Given the description of an element on the screen output the (x, y) to click on. 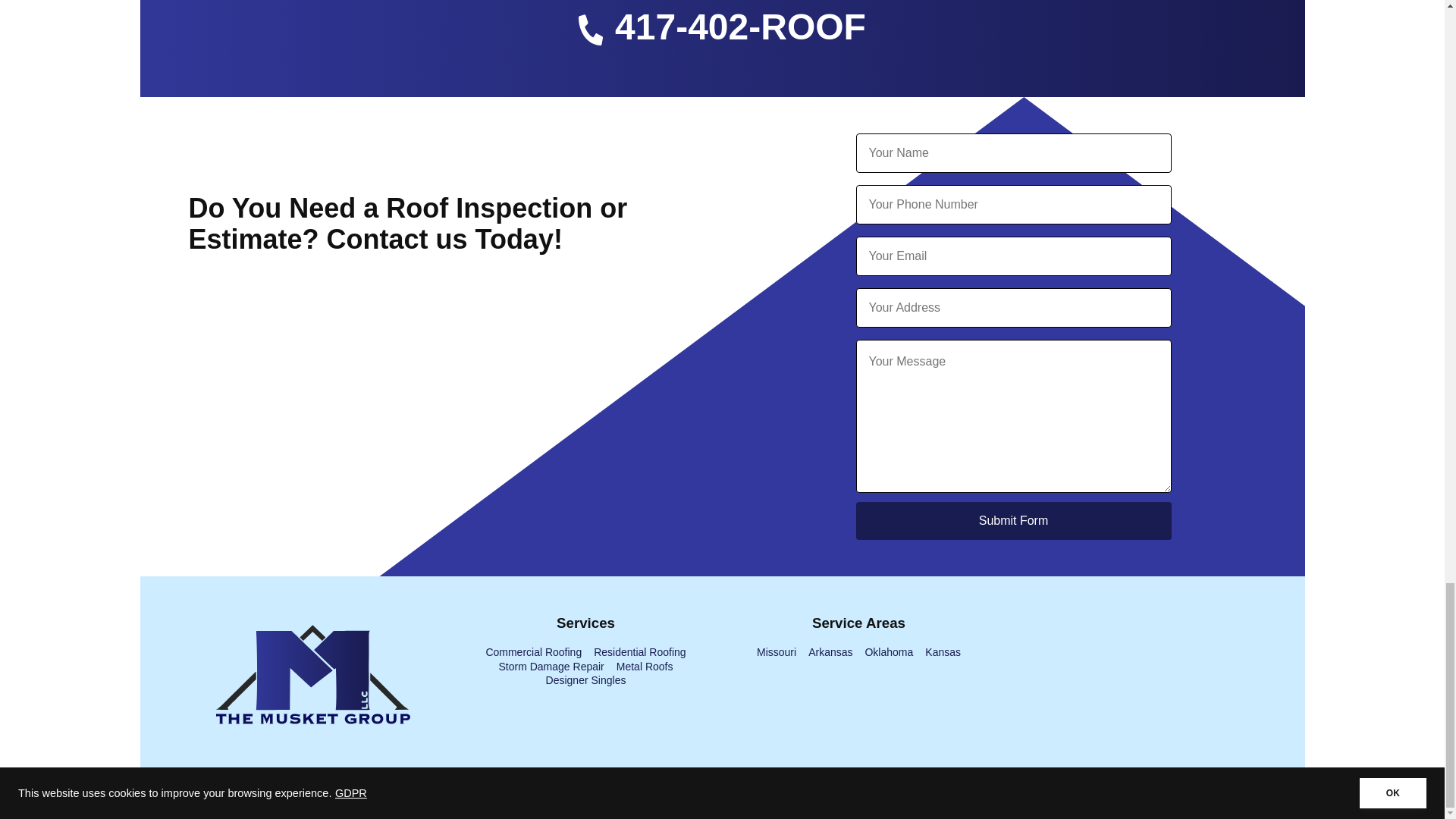
Commercial Roofing (532, 652)
Residential Roofing (639, 652)
417-402-ROOF (721, 48)
Oklahoma (888, 652)
Submit Form (1013, 520)
Metal Roofs (643, 666)
Residential Roofing (639, 652)
Commercial Roofing (532, 652)
Designer Singles (586, 680)
Missouri (776, 652)
